Given the description of an element on the screen output the (x, y) to click on. 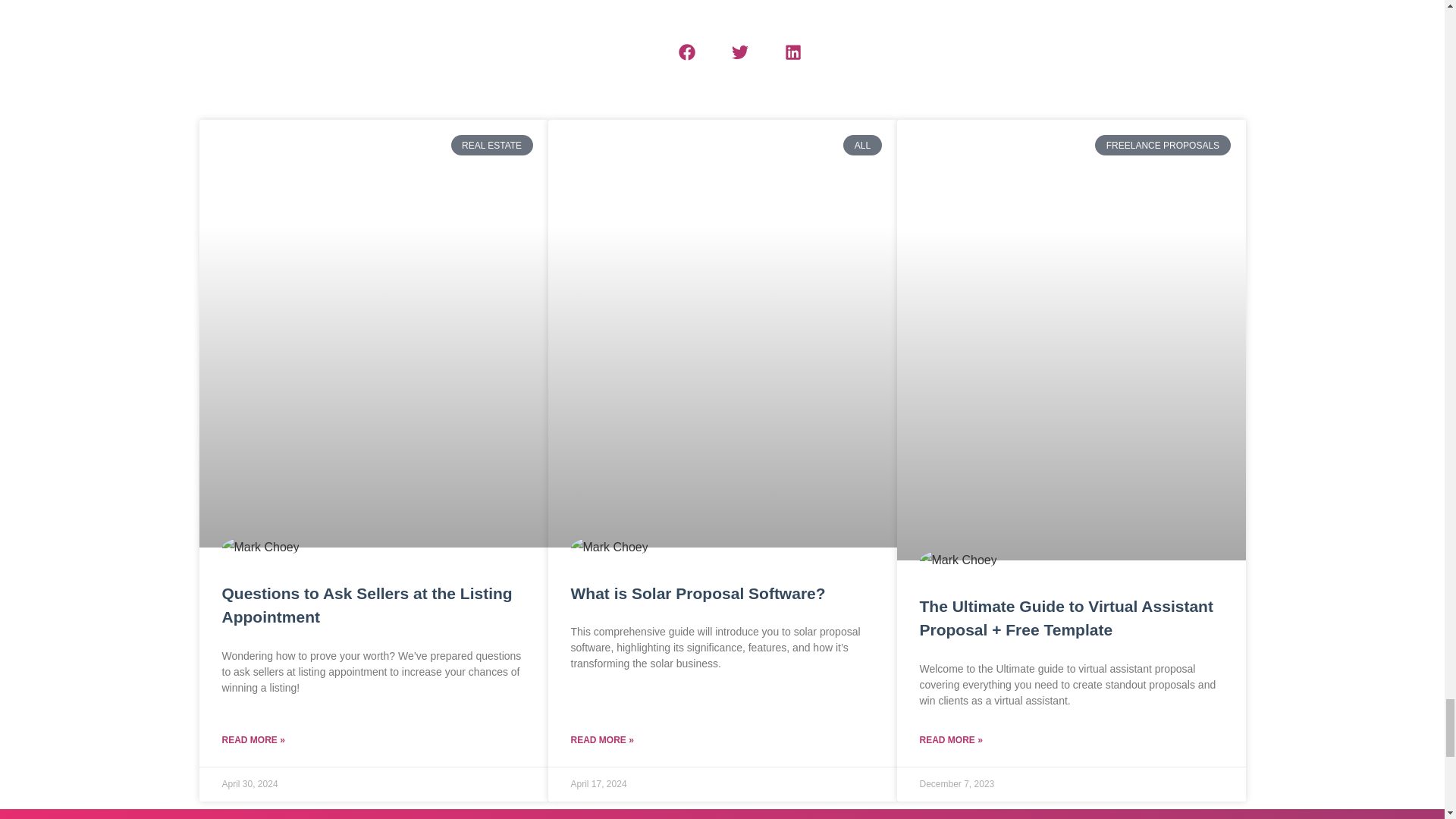
What is Solar Proposal Software? (697, 592)
Questions to Ask Sellers at the Listing Appointment (366, 605)
